Given the description of an element on the screen output the (x, y) to click on. 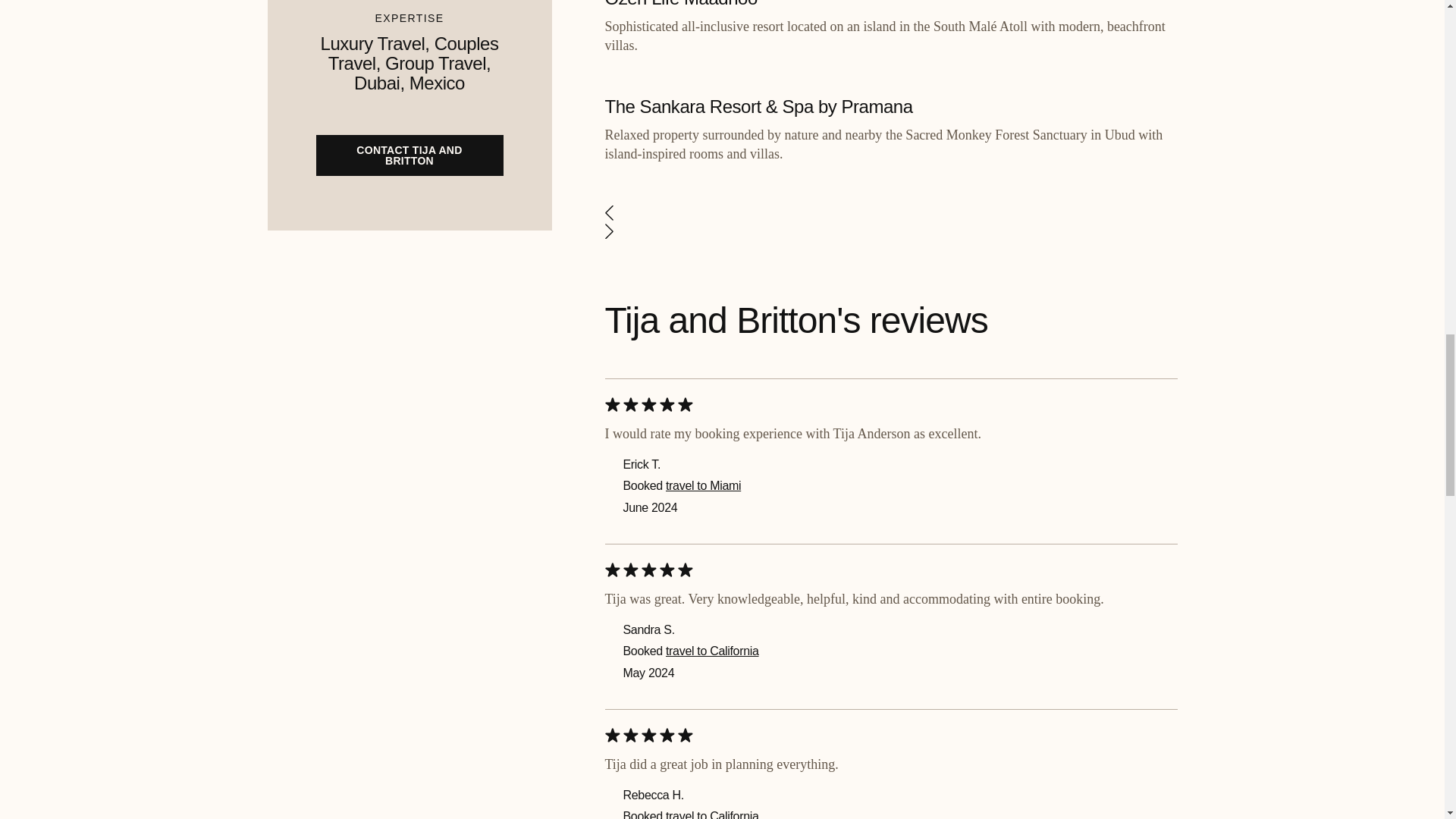
VIEW MORE (890, 655)
travel to California (711, 367)
travel to New York City (724, 551)
travel to Miami (703, 36)
travel to California (711, 201)
